Given the description of an element on the screen output the (x, y) to click on. 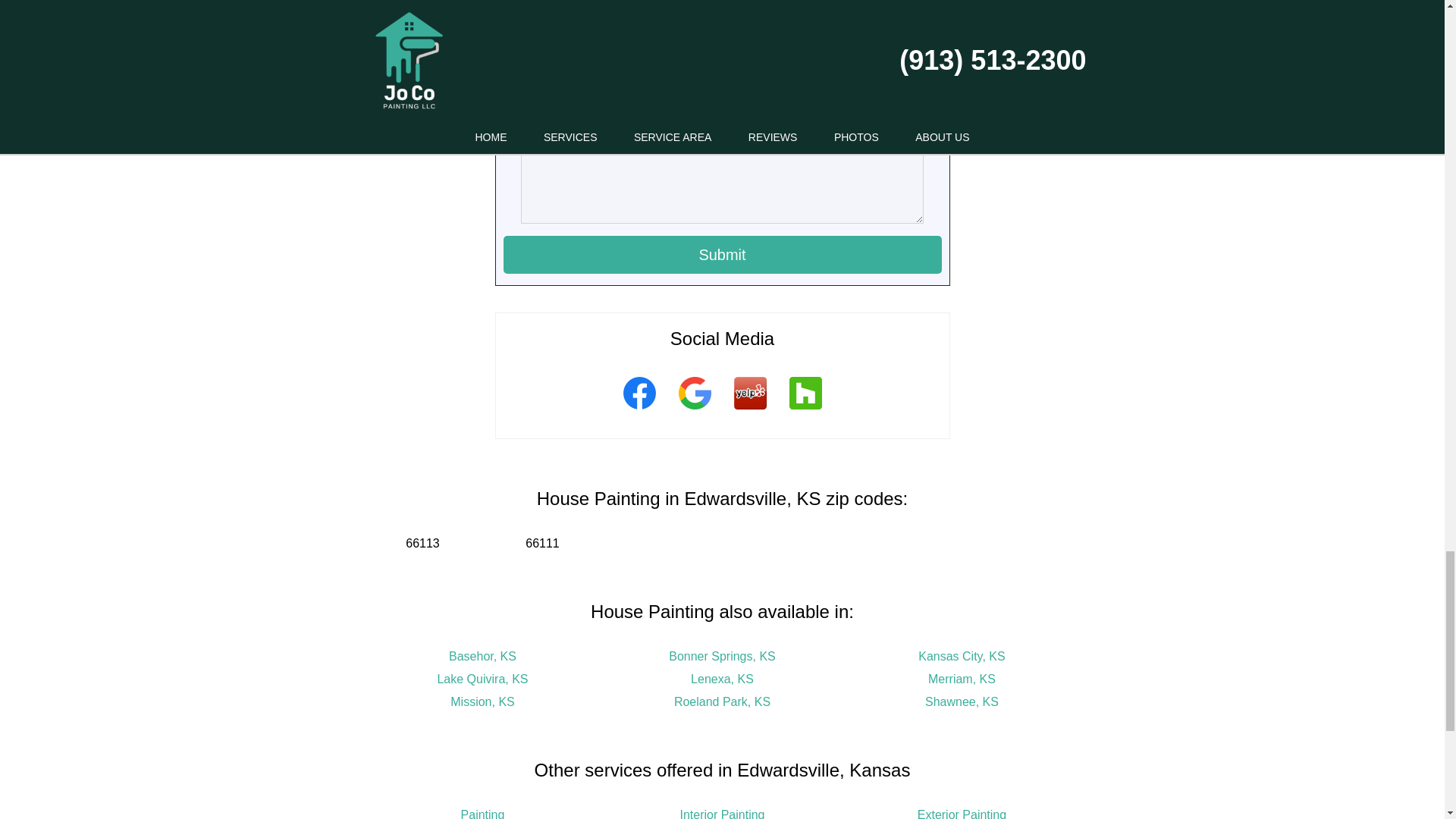
Yelp (749, 411)
Google (694, 411)
Merriam, KS (961, 678)
Lake Quivira, KS (481, 678)
Facebook (638, 411)
Basehor, KS (482, 656)
Submit (722, 254)
Lenexa, KS (722, 678)
Houzz (804, 411)
Bonner Springs, KS (722, 656)
Kansas City, KS (961, 656)
